Given the description of an element on the screen output the (x, y) to click on. 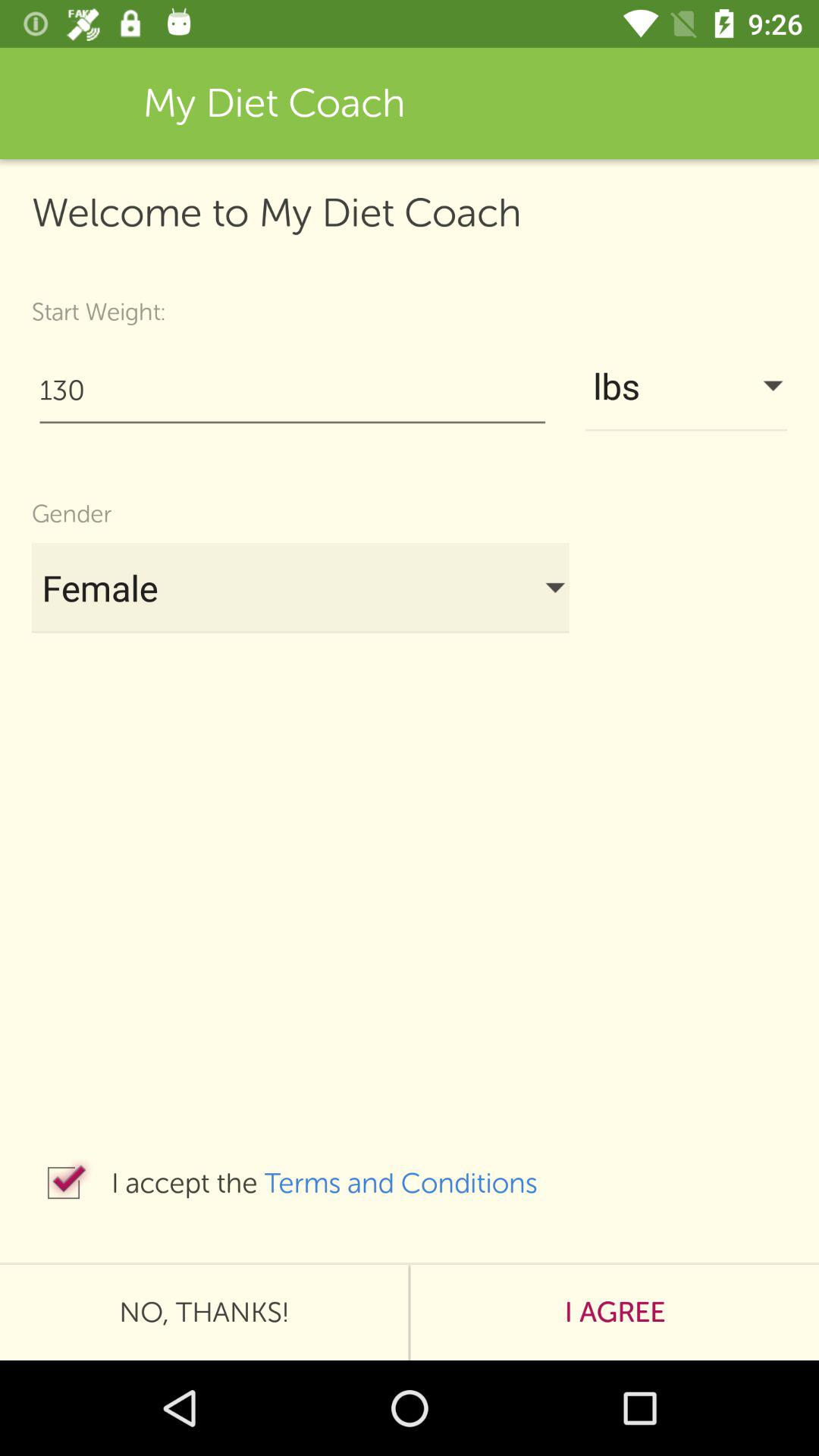
launch no, thanks! (204, 1312)
